Given the description of an element on the screen output the (x, y) to click on. 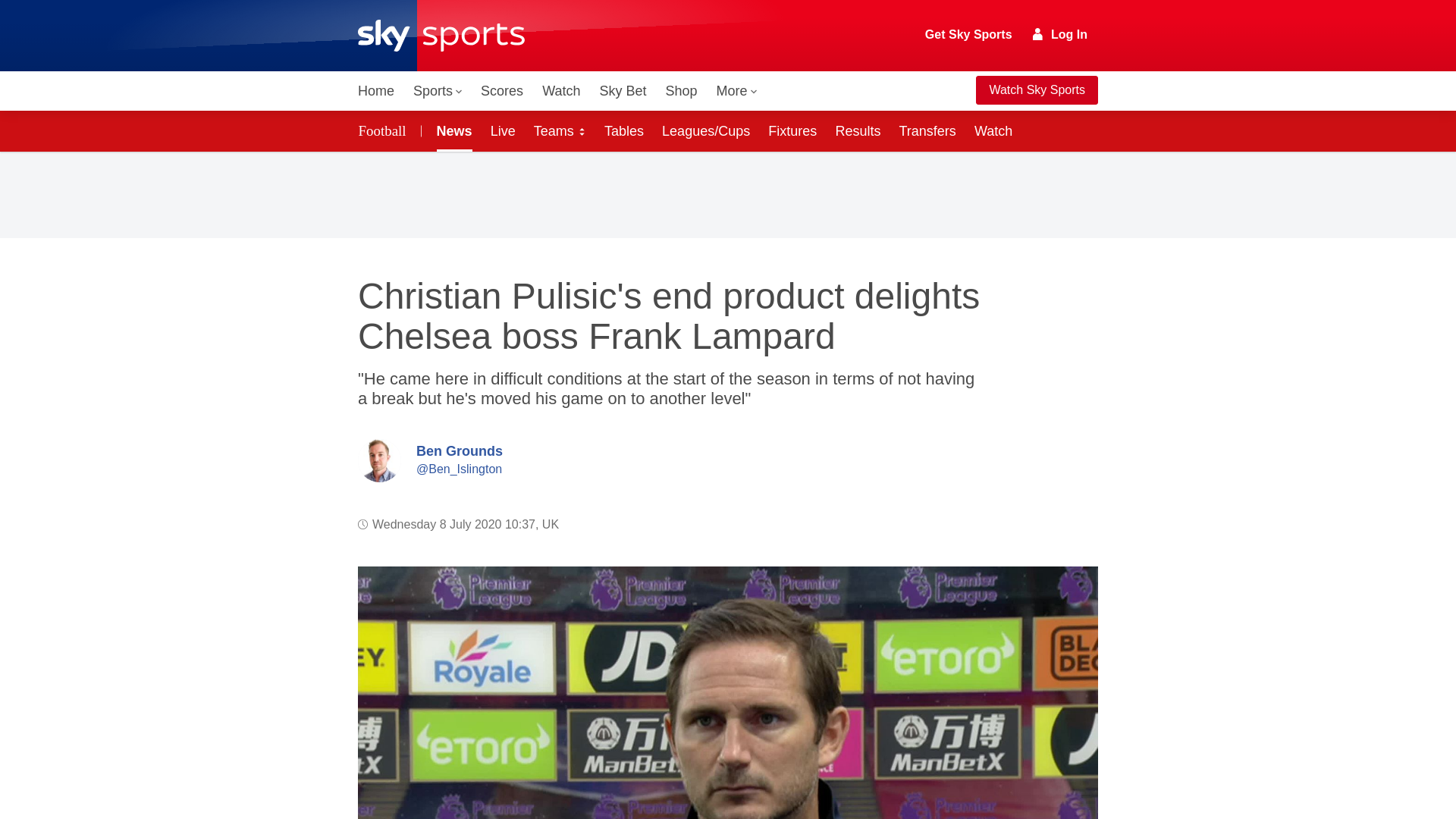
Shop (681, 91)
More (736, 91)
Scores (502, 91)
Watch Sky Sports (1036, 90)
Get Sky Sports (968, 34)
News (451, 130)
Log In (1060, 33)
Sports (437, 91)
Watch (561, 91)
Football (385, 130)
